Given the description of an element on the screen output the (x, y) to click on. 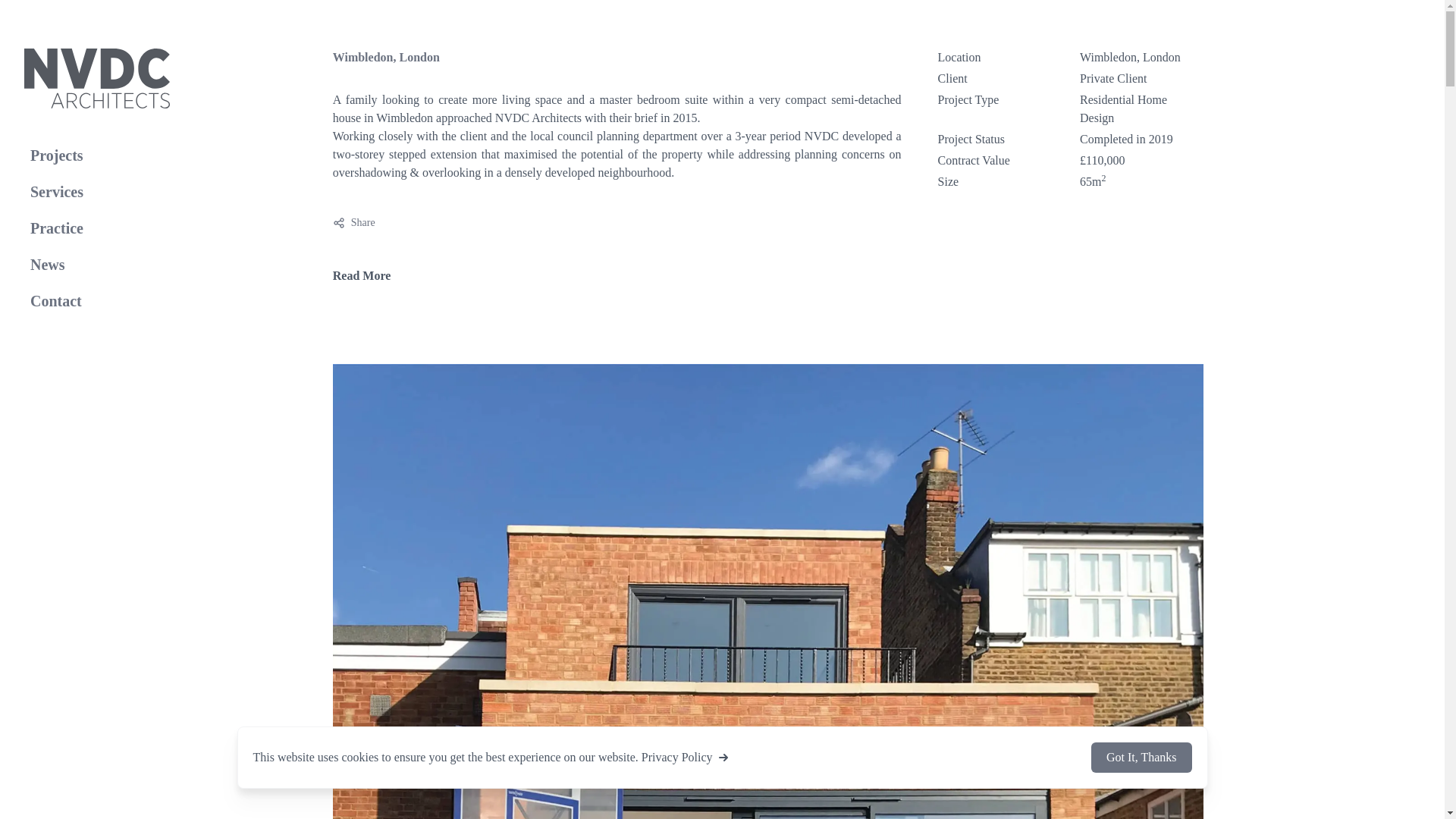
Practice (97, 227)
News (97, 264)
Contact (97, 300)
Projects (354, 222)
Services (97, 154)
Read More (97, 191)
